Given the description of an element on the screen output the (x, y) to click on. 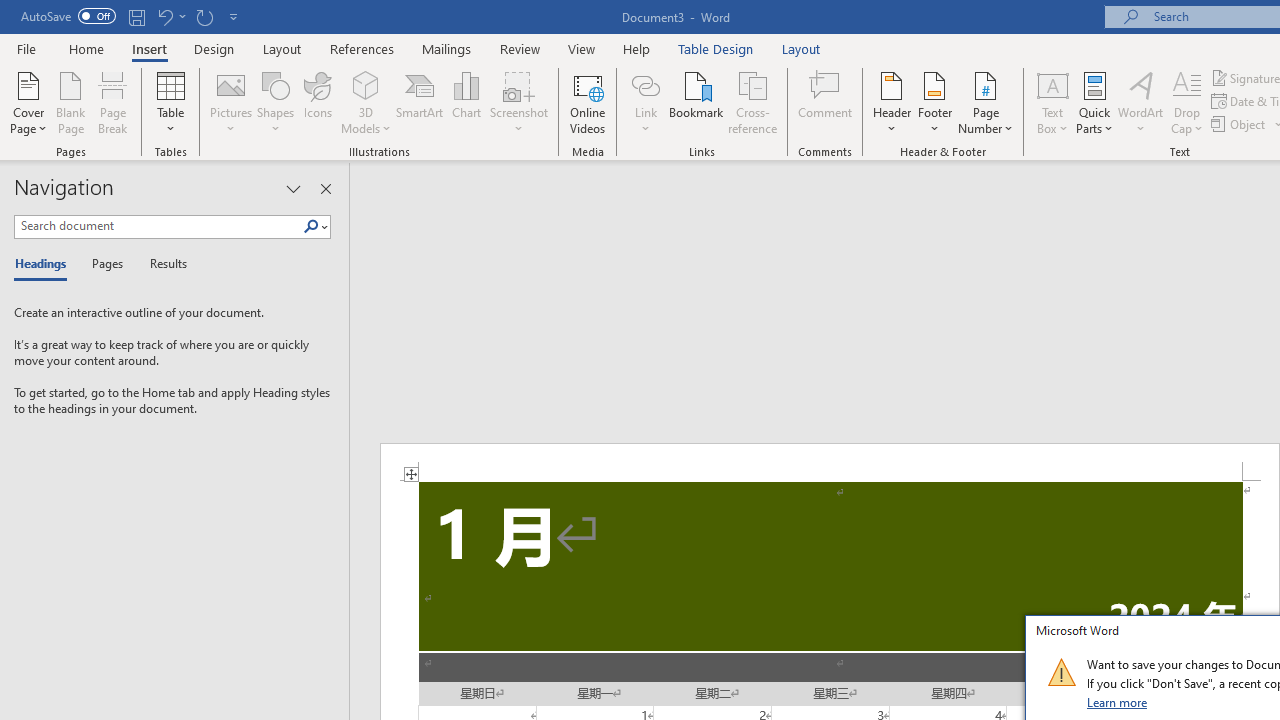
Bookmark... (695, 102)
Table (170, 102)
SmartArt... (419, 102)
Drop Cap (1187, 102)
Header (891, 102)
